Given the description of an element on the screen output the (x, y) to click on. 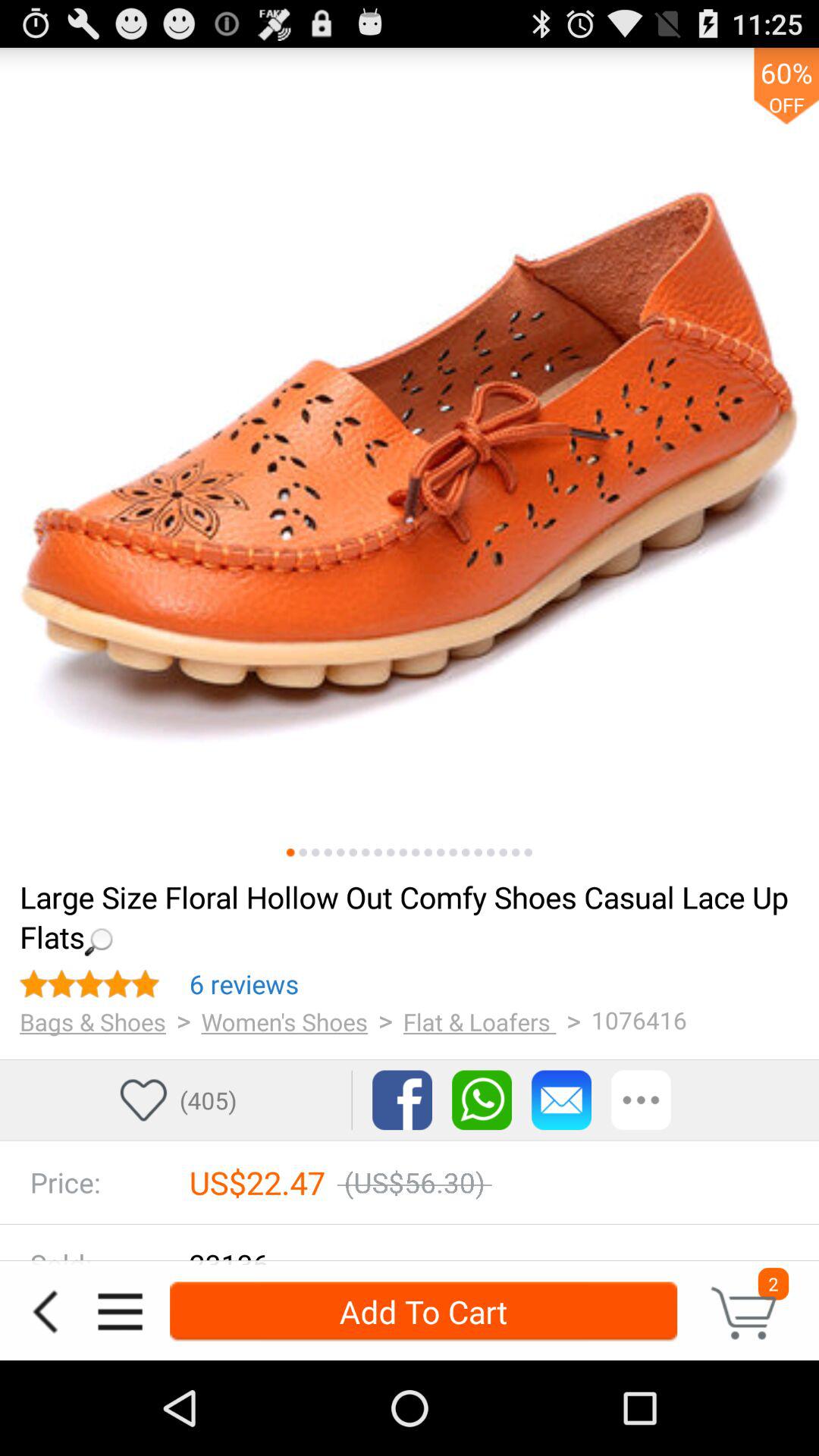
view larger image (409, 456)
